Given the description of an element on the screen output the (x, y) to click on. 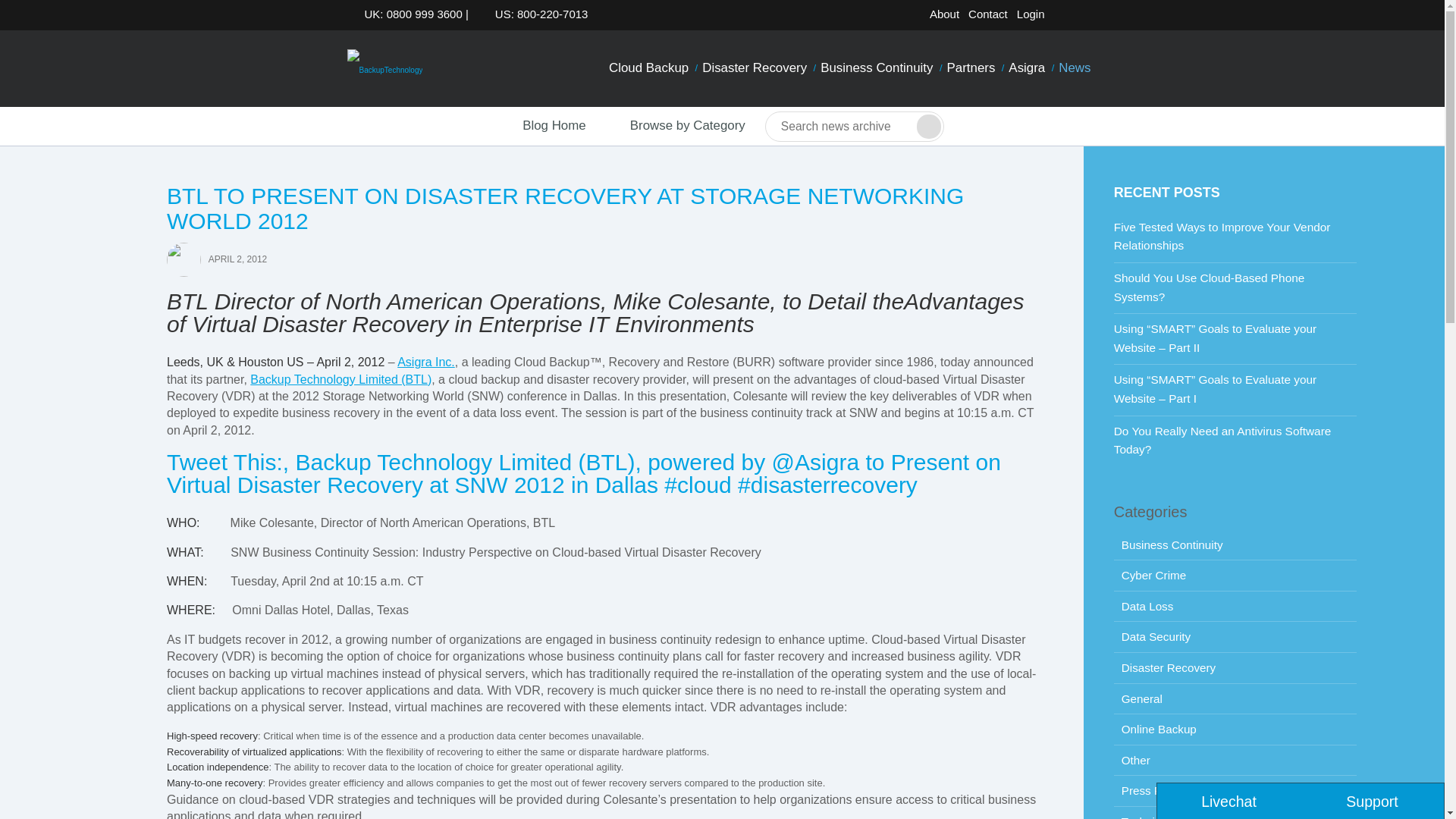
Asigra (1026, 68)
Browse by Category (675, 126)
Blog Home (539, 126)
Cloud Backup (648, 68)
Partners (971, 68)
Business Continuity (876, 68)
Search (928, 126)
News (1074, 68)
About (943, 14)
US: 800-220-7013 (536, 14)
